Given the description of an element on the screen output the (x, y) to click on. 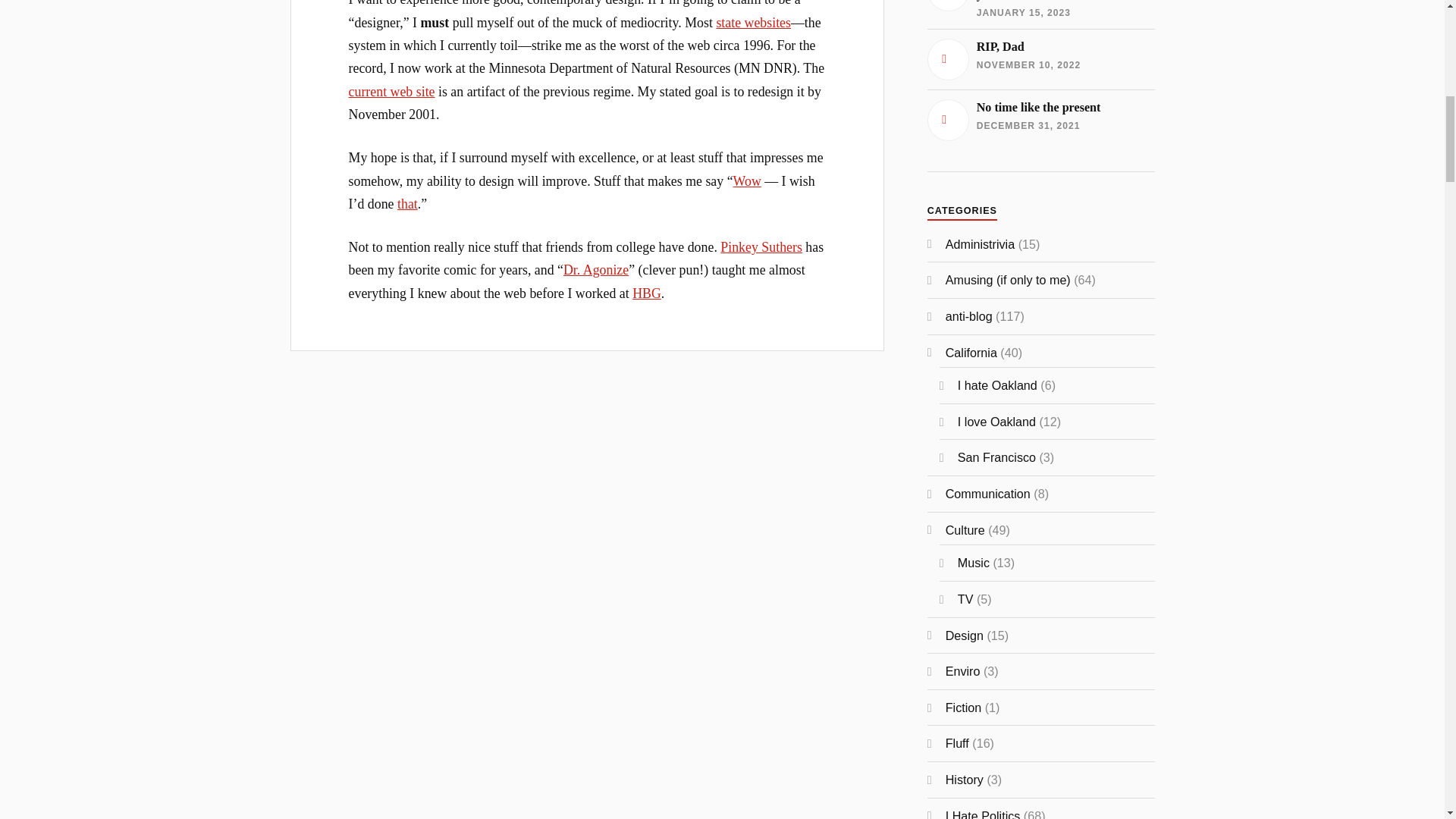
anti-blog (968, 315)
that (407, 203)
I love Oakland (996, 421)
current web site (1040, 59)
Dr. Agonize (392, 91)
state websites (595, 269)
Wow (753, 22)
Pinkey Suthers (1040, 119)
